Given the description of an element on the screen output the (x, y) to click on. 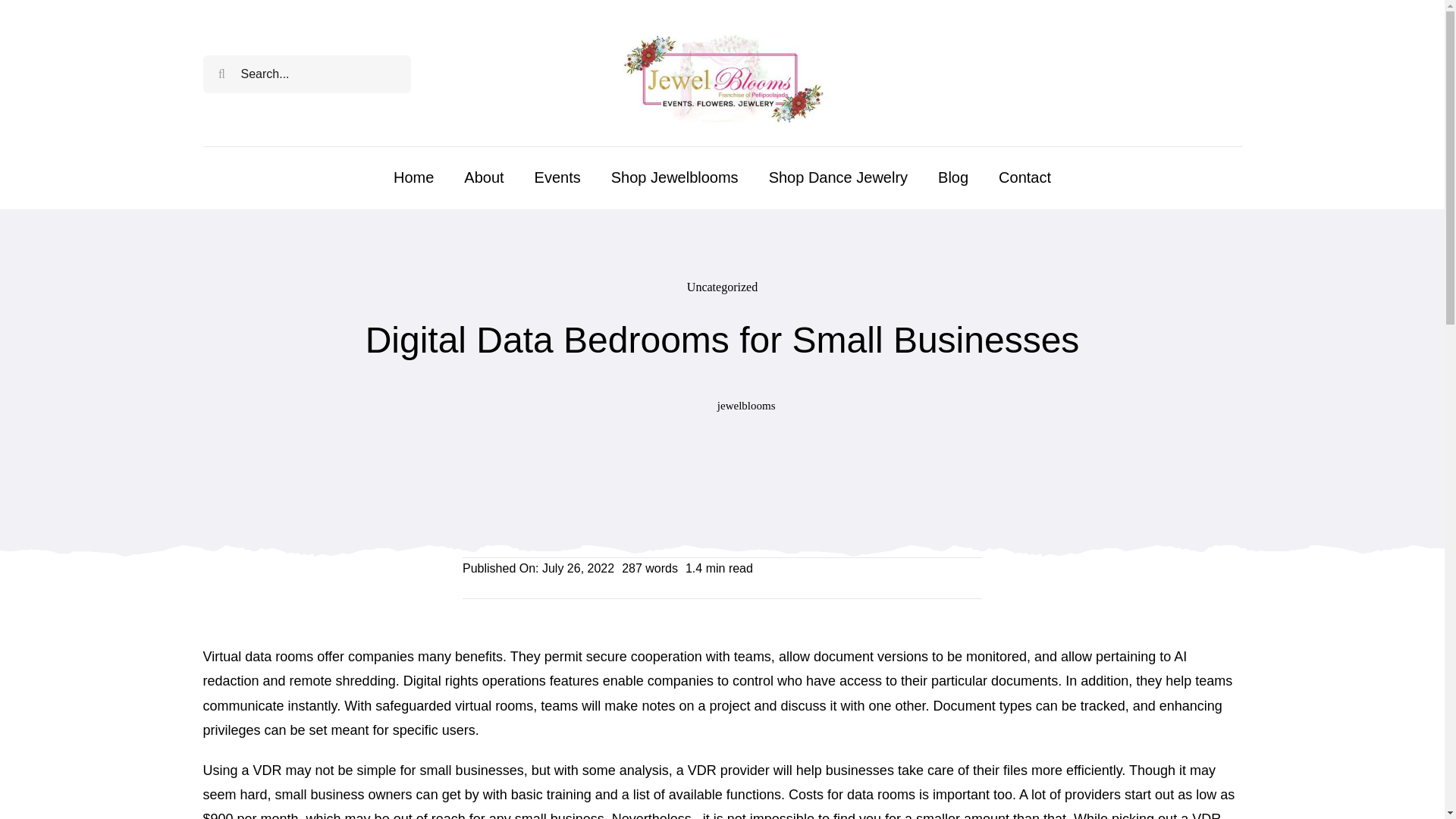
Jewel Bhooms logo (721, 73)
Shop Jewelblooms (674, 176)
Events (557, 176)
Contact (1024, 176)
About (483, 176)
Shop Dance Jewelry (837, 176)
Uncategorized (722, 286)
Home (413, 176)
Blog (952, 176)
Log In (1199, 242)
Uncategorized (722, 286)
